Given the description of an element on the screen output the (x, y) to click on. 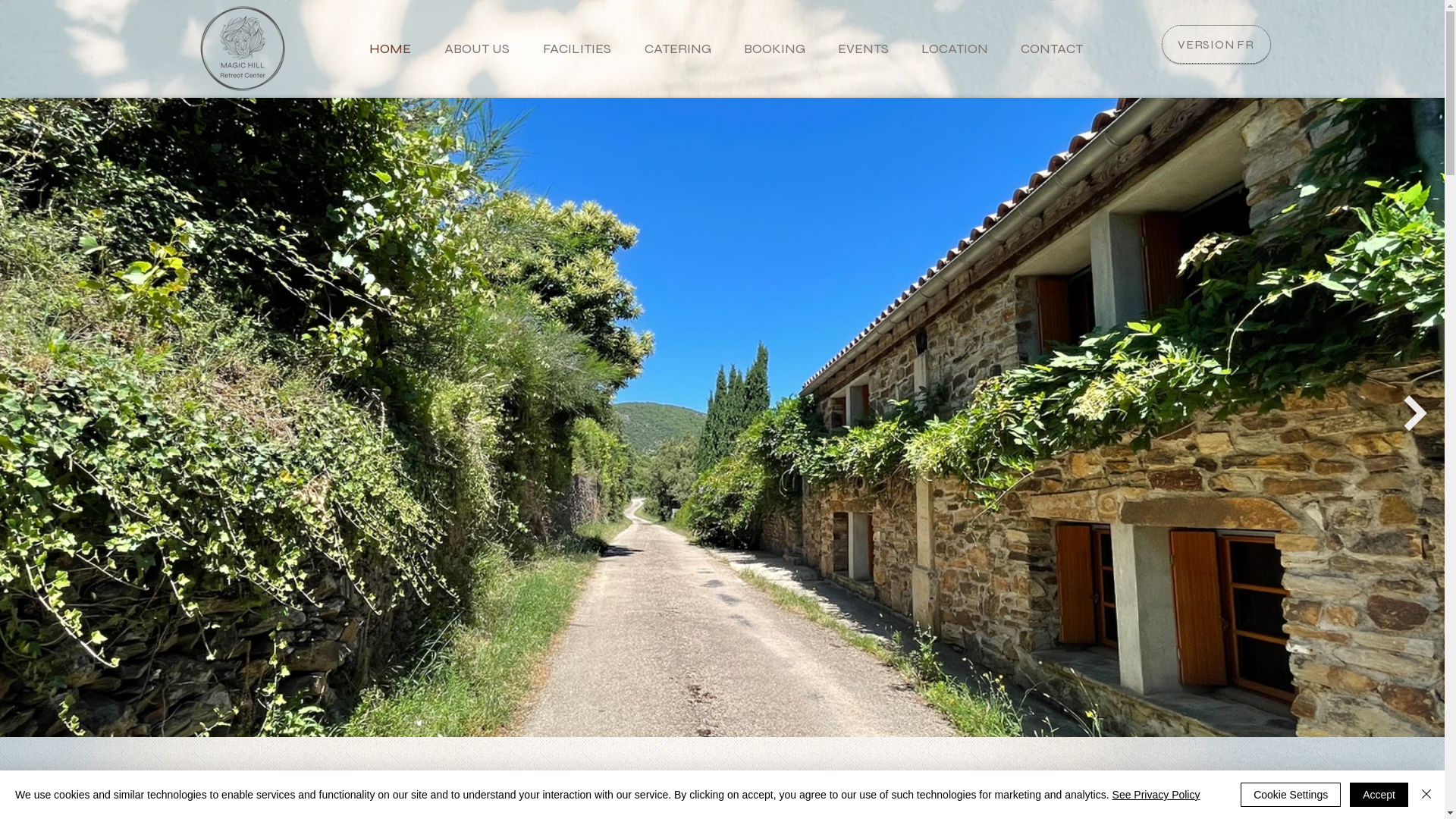
Accept Element type: text (1378, 794)
CONTACT Element type: text (1046, 48)
FACILITIES Element type: text (570, 48)
ABOUT US Element type: text (470, 48)
VERSION FR Element type: text (1215, 44)
Logo Insta & Facebook (1).png Element type: hover (241, 48)
CATERING Element type: text (671, 48)
See Privacy Policy Element type: text (1156, 794)
LOCATION Element type: text (948, 48)
BOOKING Element type: text (768, 48)
HOME Element type: text (384, 48)
Cookie Settings Element type: text (1290, 794)
EVENTS Element type: text (857, 48)
